Given the description of an element on the screen output the (x, y) to click on. 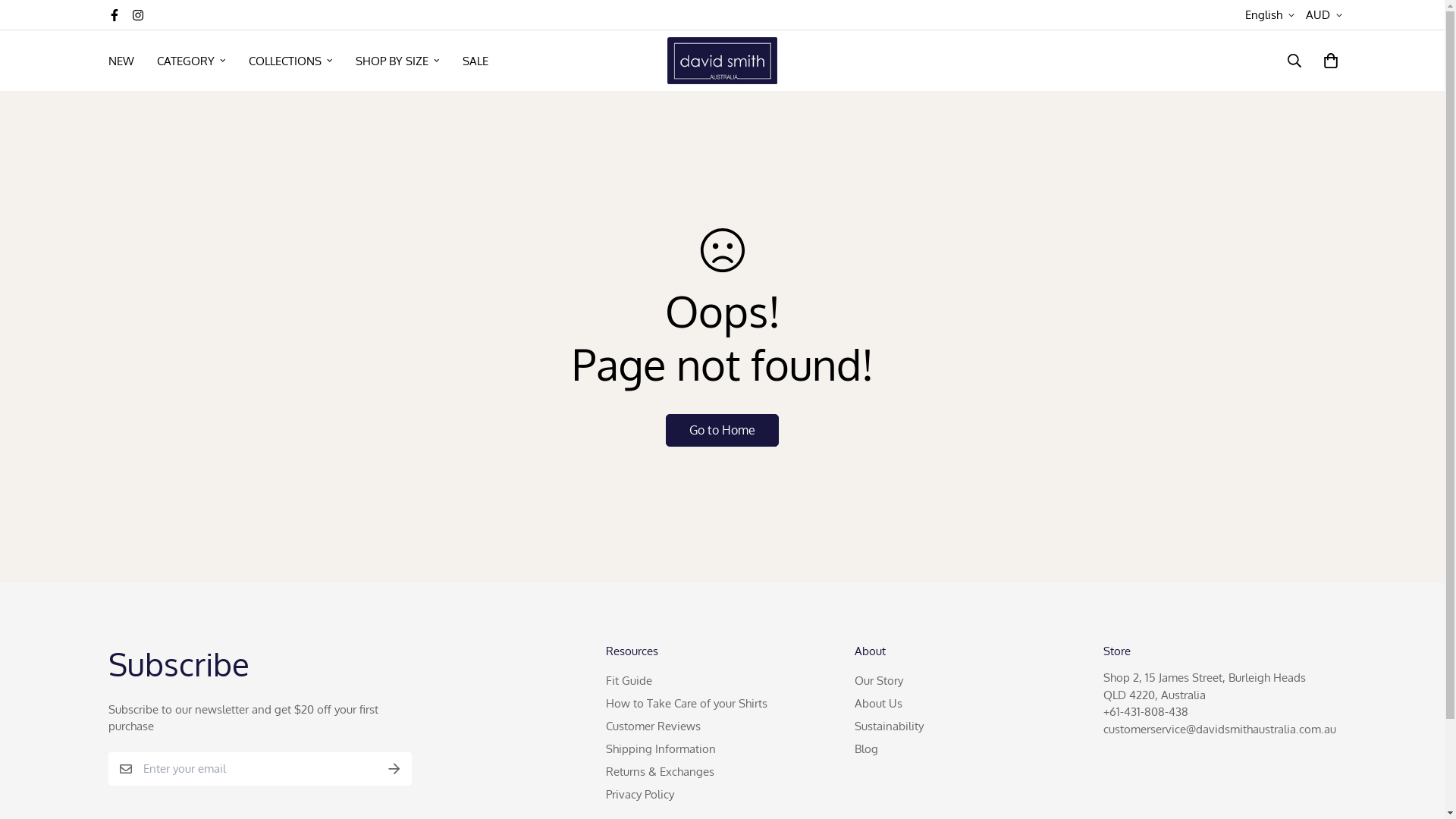
COLLECTIONS Element type: text (289, 60)
About Us Element type: text (878, 703)
+61-431-808-438 Element type: text (1145, 711)
Our Story Element type: text (878, 680)
customerservice@davidsmithaustralia.com.au Element type: text (1219, 728)
How to Take Care of your Shirts Element type: text (686, 703)
Shop 2, 15 James Street, Burleigh Heads
QLD 4220, Australia Element type: text (1204, 686)
Returns & Exchanges Element type: text (659, 771)
Blog Element type: text (866, 749)
NEW Element type: text (121, 60)
Shipping Information Element type: text (660, 749)
Go to Home Element type: text (721, 430)
Fit Guide Element type: text (628, 680)
Customer Reviews Element type: text (652, 726)
David Smith Australia Element type: hover (722, 60)
Privacy Policy Element type: text (639, 794)
SHOP BY SIZE Element type: text (397, 60)
SALE Element type: text (474, 60)
Sustainability Element type: text (888, 726)
CATEGORY Element type: text (191, 60)
